Given the description of an element on the screen output the (x, y) to click on. 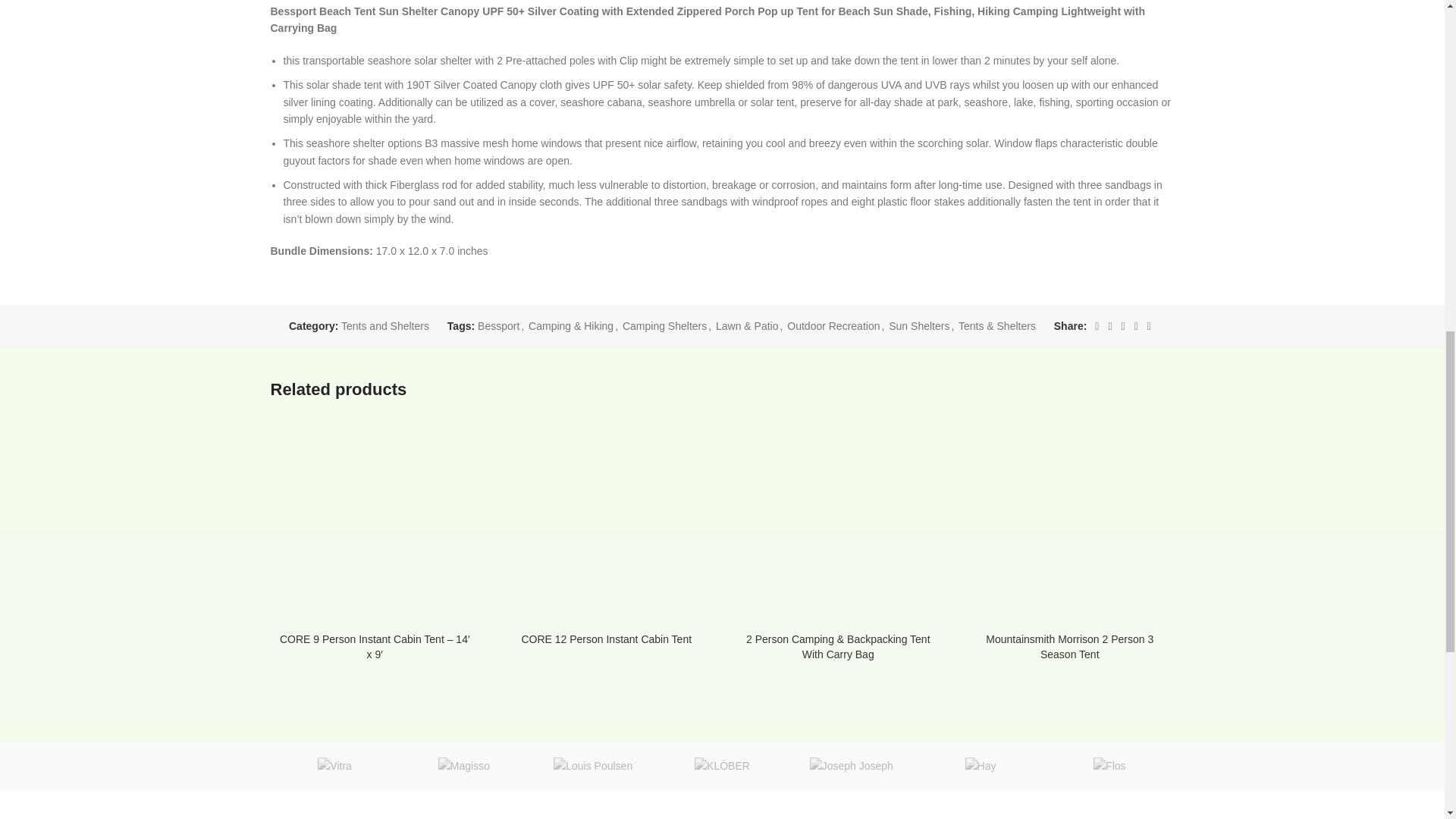
Vitra (333, 765)
Louis Poulsen (593, 765)
Vitra (334, 765)
Magisso (463, 765)
Magisso (463, 765)
